Given the description of an element on the screen output the (x, y) to click on. 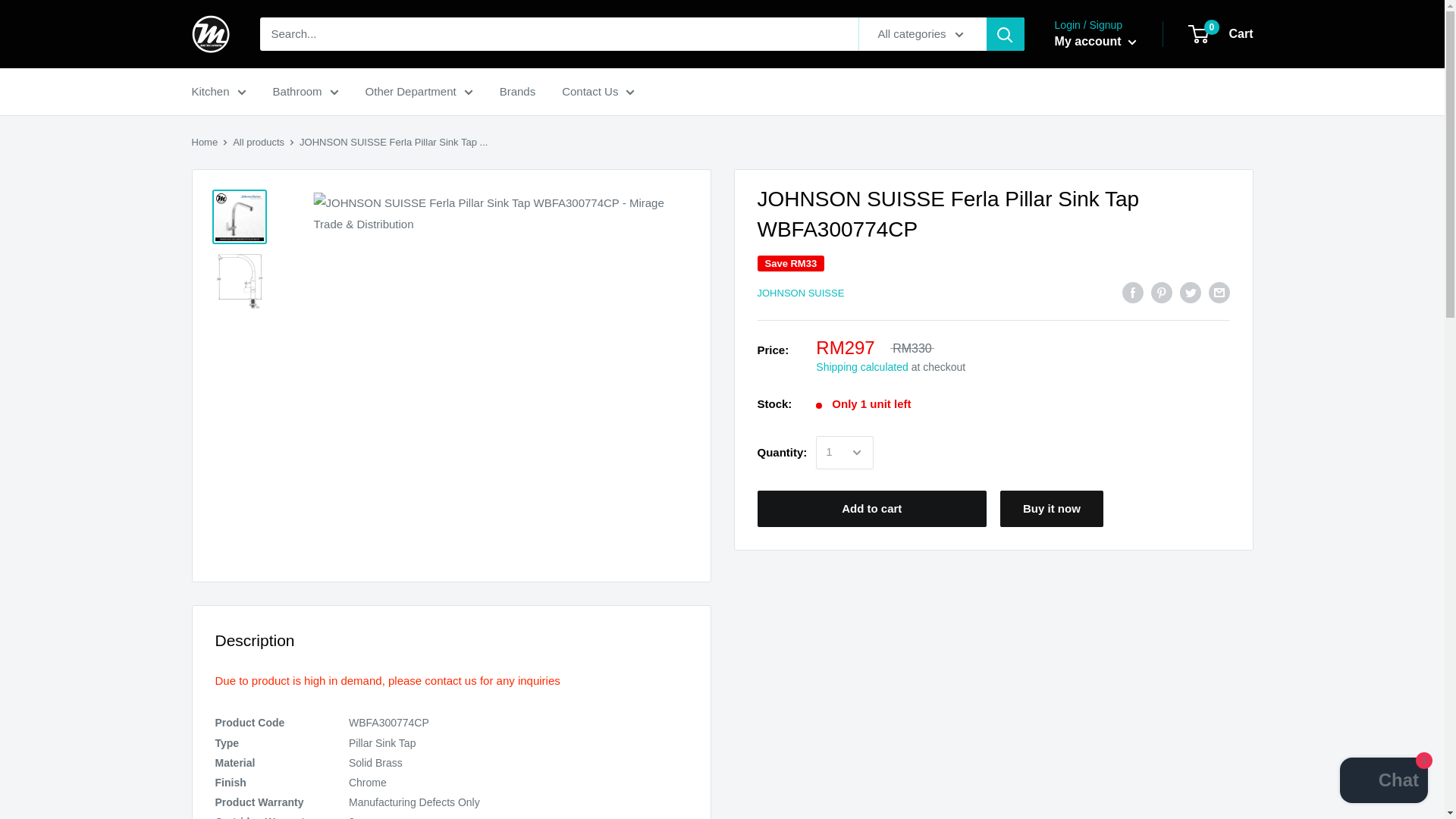
Shopify online store chat (1383, 781)
